Given the description of an element on the screen output the (x, y) to click on. 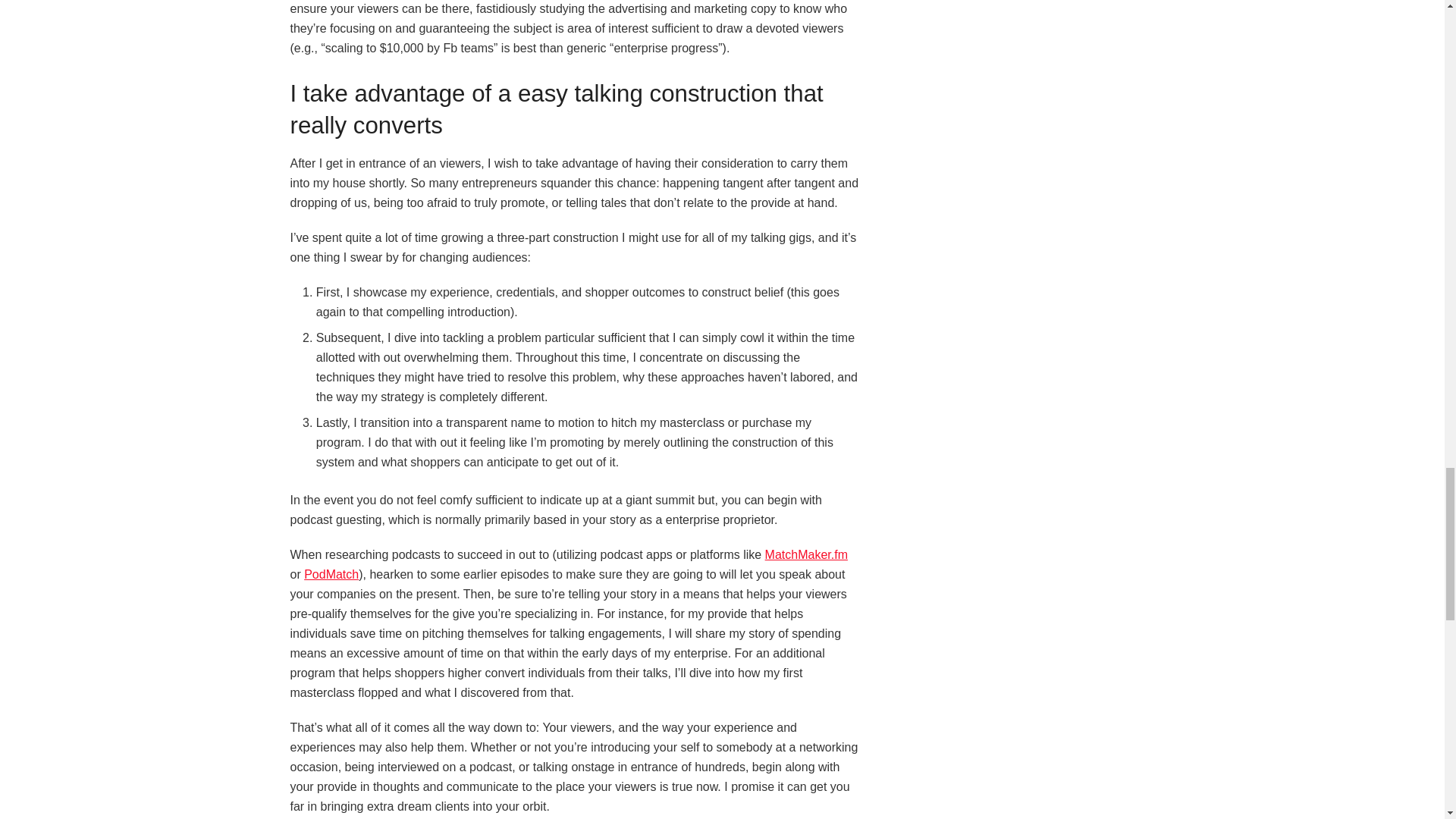
PodMatch (331, 574)
MatchMaker.fm (806, 554)
